Given the description of an element on the screen output the (x, y) to click on. 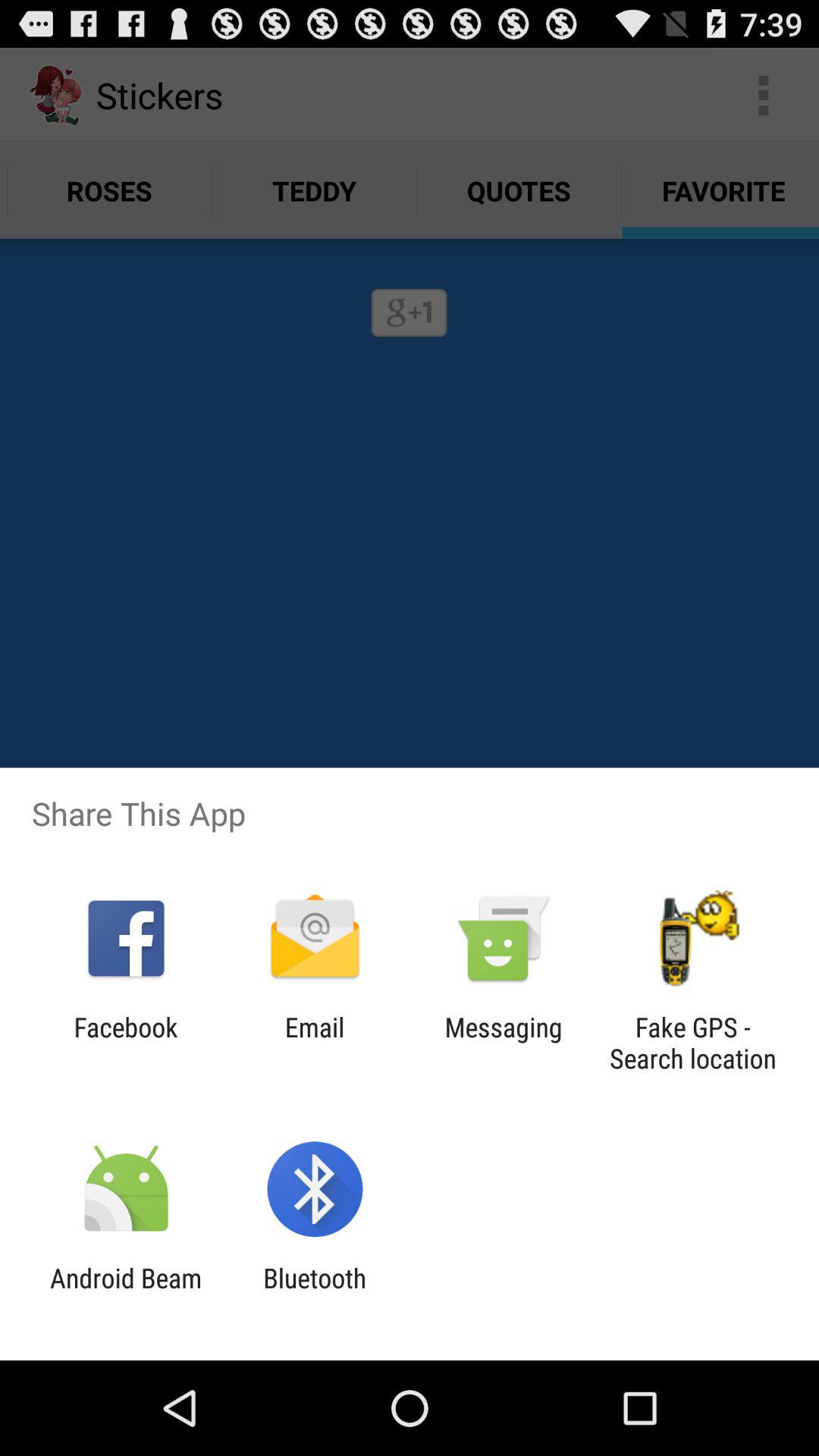
open the item to the left of the email icon (125, 1042)
